Given the description of an element on the screen output the (x, y) to click on. 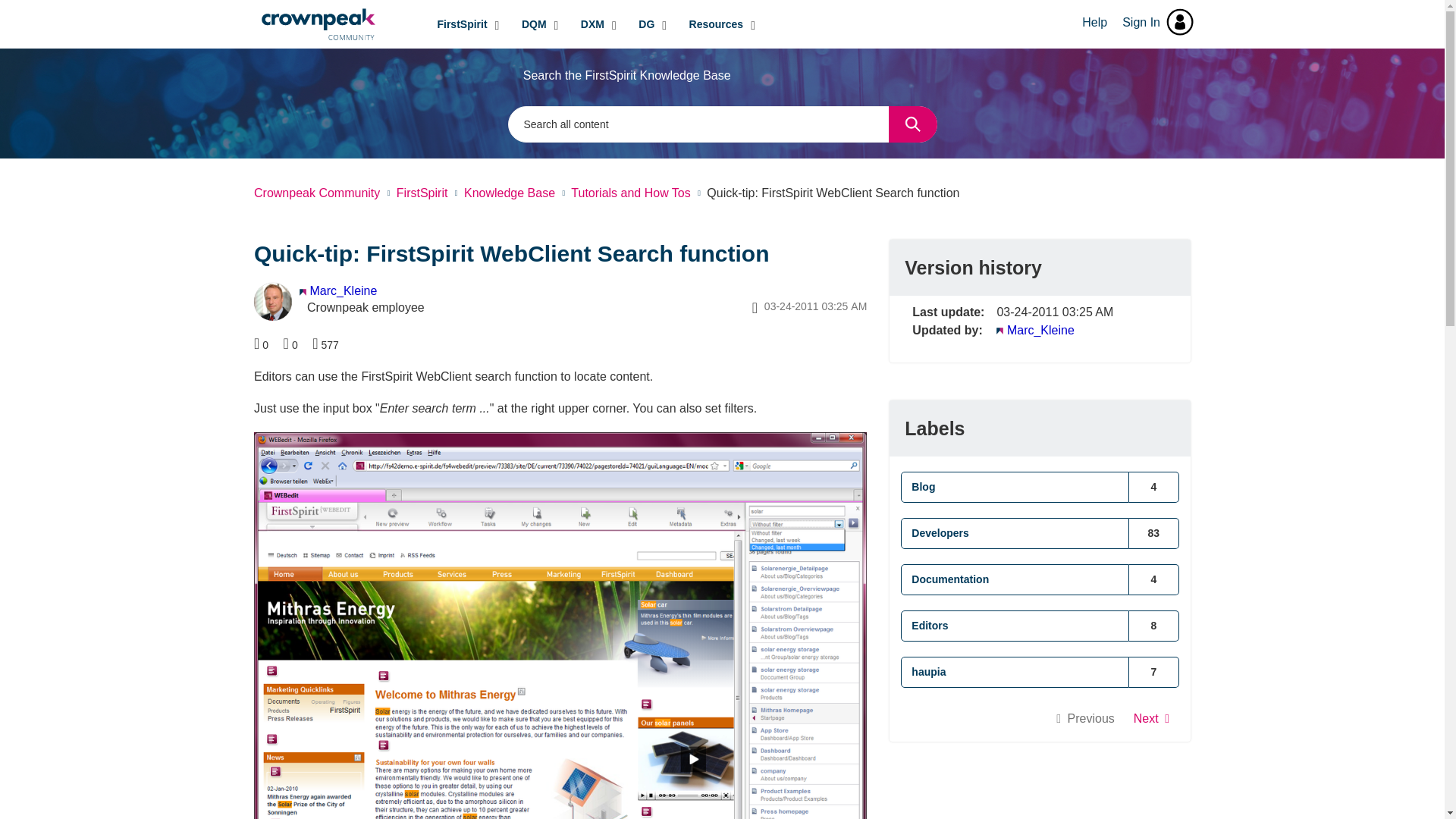
Posted on (809, 306)
FirstSpirit (467, 24)
Community (338, 24)
Search (722, 124)
Crownpeak employee (302, 292)
